Given the description of an element on the screen output the (x, y) to click on. 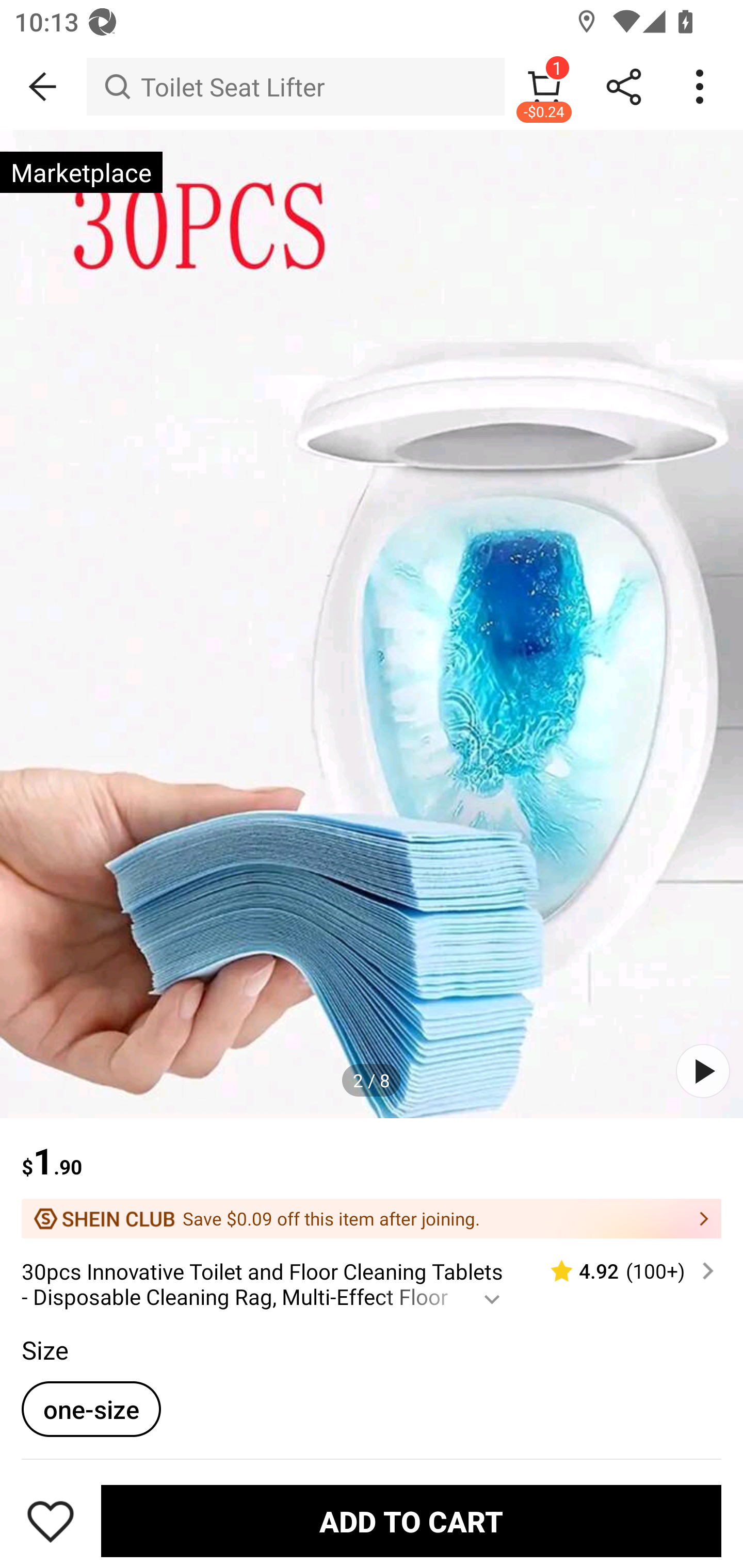
BACK (43, 86)
1 -$0.24 (543, 87)
Toilet Seat Lifter (295, 87)
2 / 8 (371, 1080)
$1.90 Save $0.09 off this item after joining. (371, 1177)
Save $0.09 off this item after joining. (371, 1217)
4.92 (100‎+) (623, 1270)
Size (44, 1349)
one-size one-sizeselected option (91, 1408)
ADD TO CART (411, 1520)
Save (50, 1520)
